Given the description of an element on the screen output the (x, y) to click on. 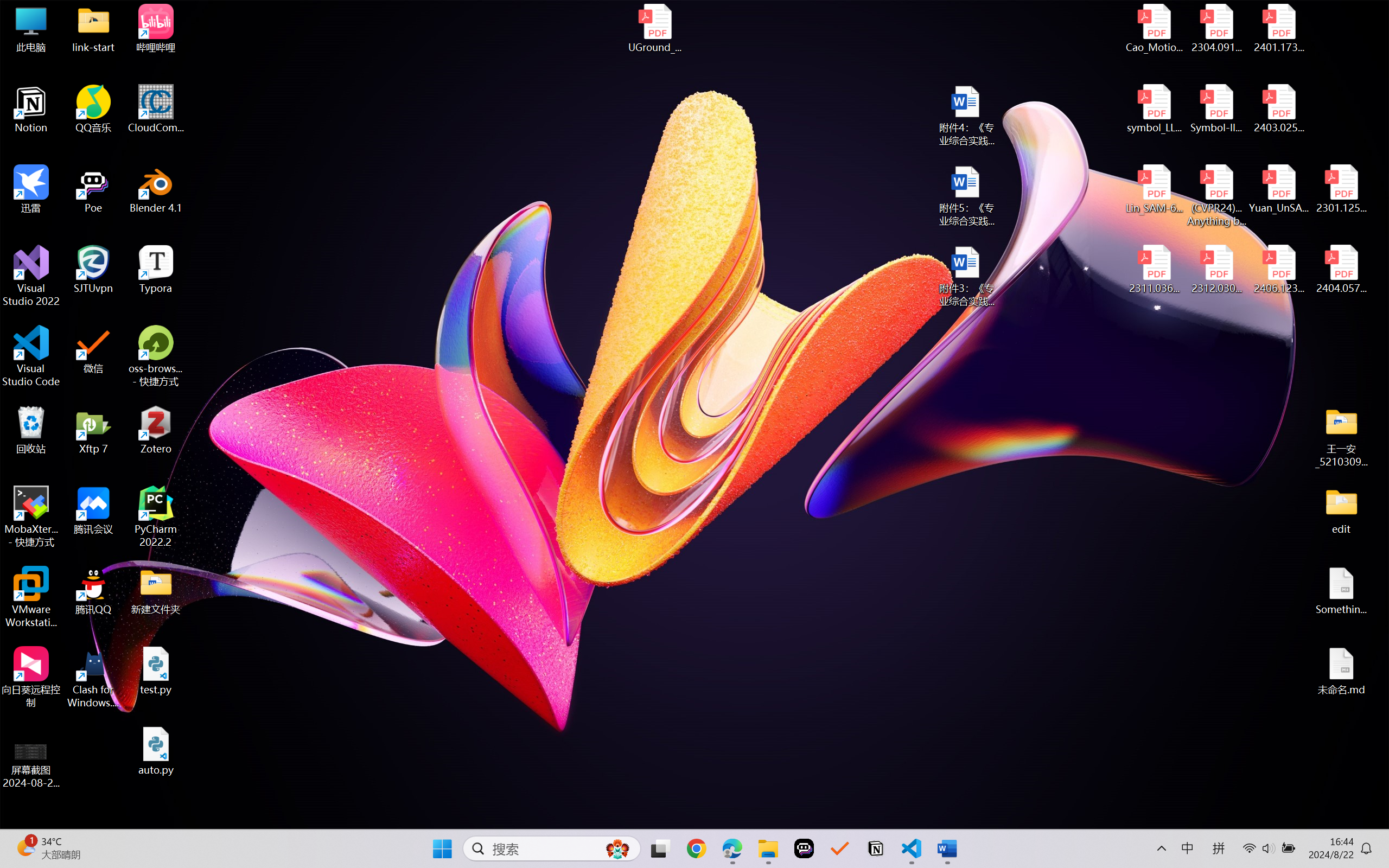
2311.03658v2.pdf (1154, 269)
2312.03032v2.pdf (1216, 269)
PyCharm 2022.2 (156, 516)
